Given the description of an element on the screen output the (x, y) to click on. 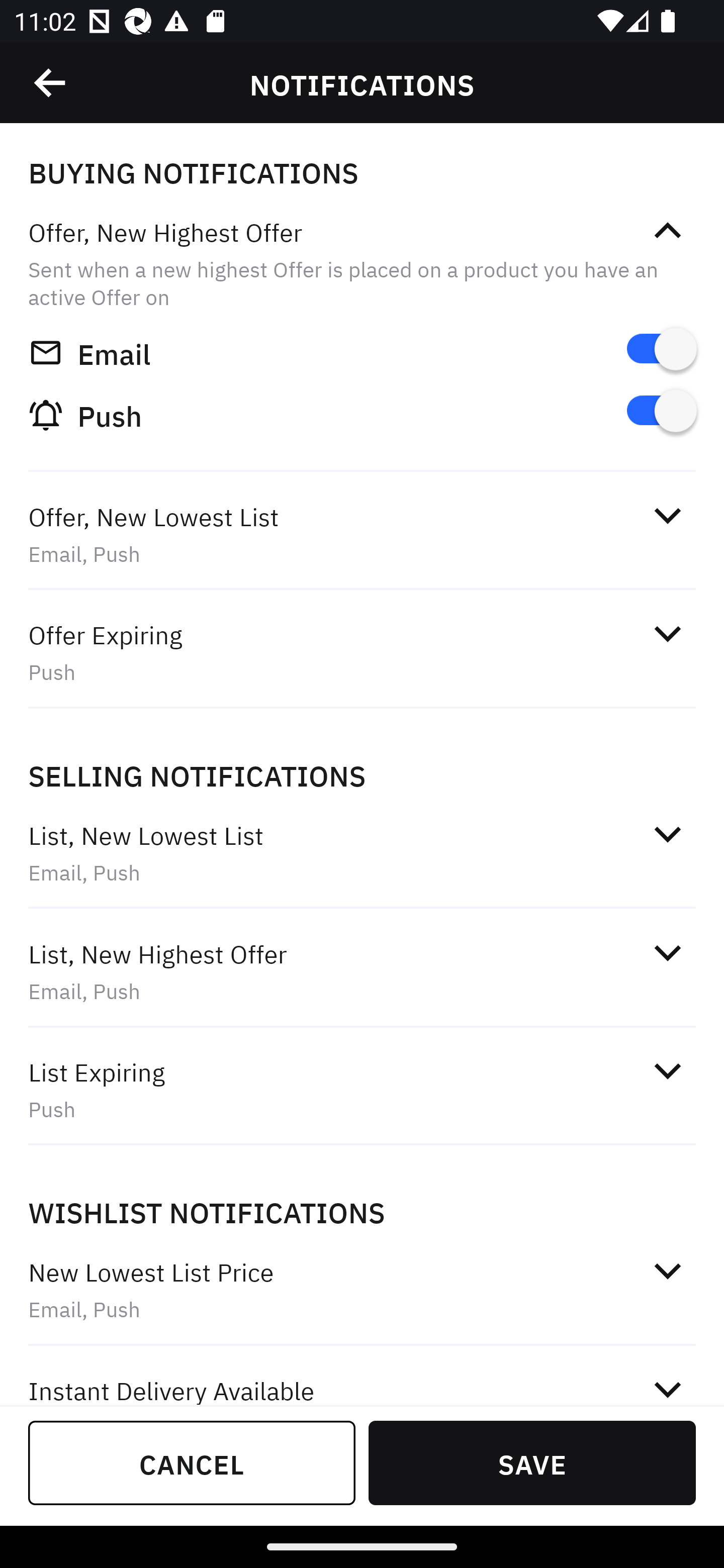
 (50, 83)
 (667, 231)
Offer, New Lowest List  Email, Push (361, 534)
 (667, 514)
Offer Expiring  Push (361, 652)
 (667, 633)
List, New Lowest List  Email, Push (361, 852)
 (667, 834)
List, New Highest Offer  Email, Push (361, 971)
 (667, 952)
List Expiring  Push (361, 1089)
 (667, 1070)
New Lowest List Price  Email, Push (361, 1290)
 (667, 1270)
Instant Delivery Available  (361, 1377)
 (667, 1385)
CANCEL (191, 1462)
SAVE (531, 1462)
